Given the description of an element on the screen output the (x, y) to click on. 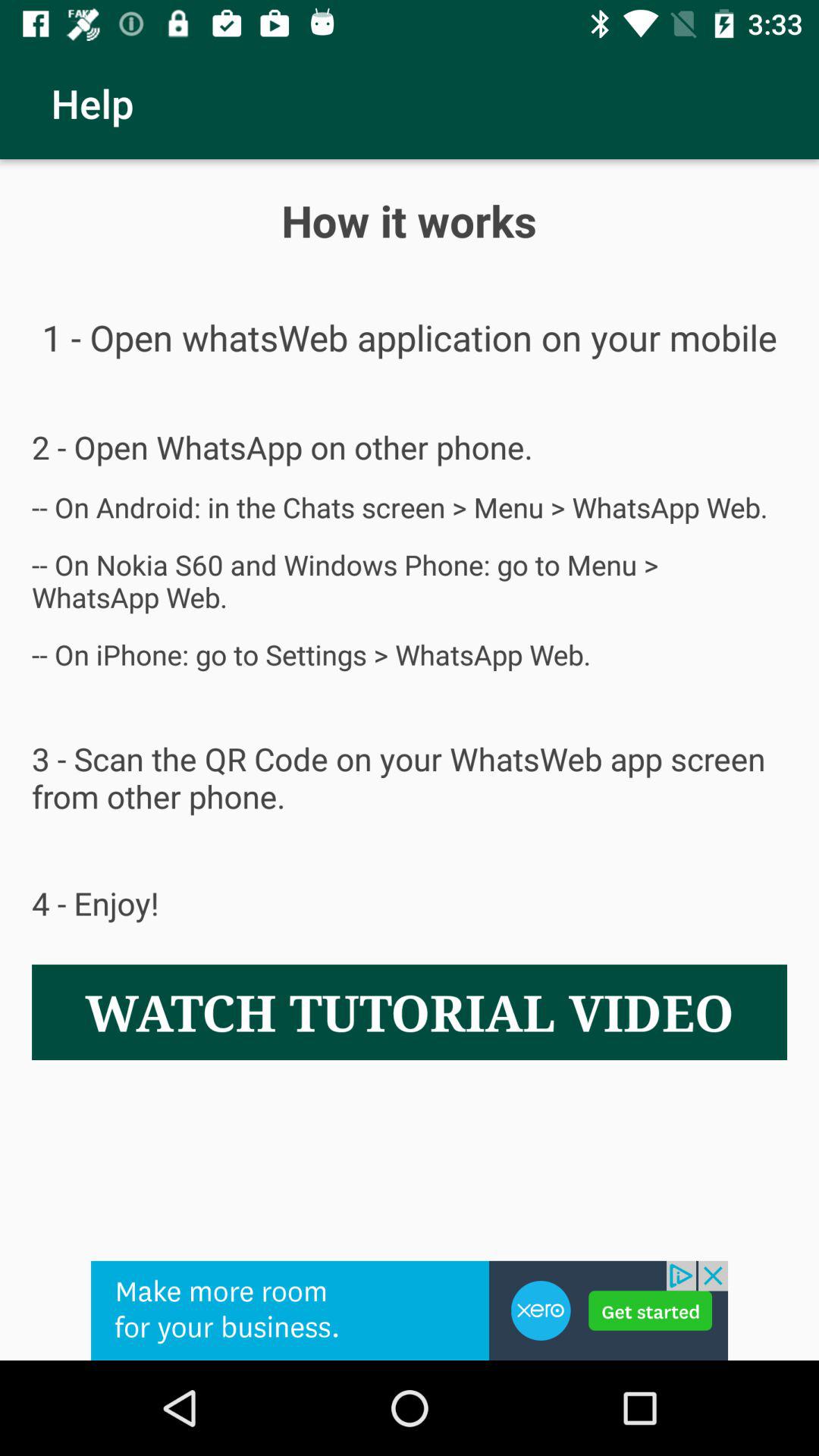
i cons (409, 1310)
